Given the description of an element on the screen output the (x, y) to click on. 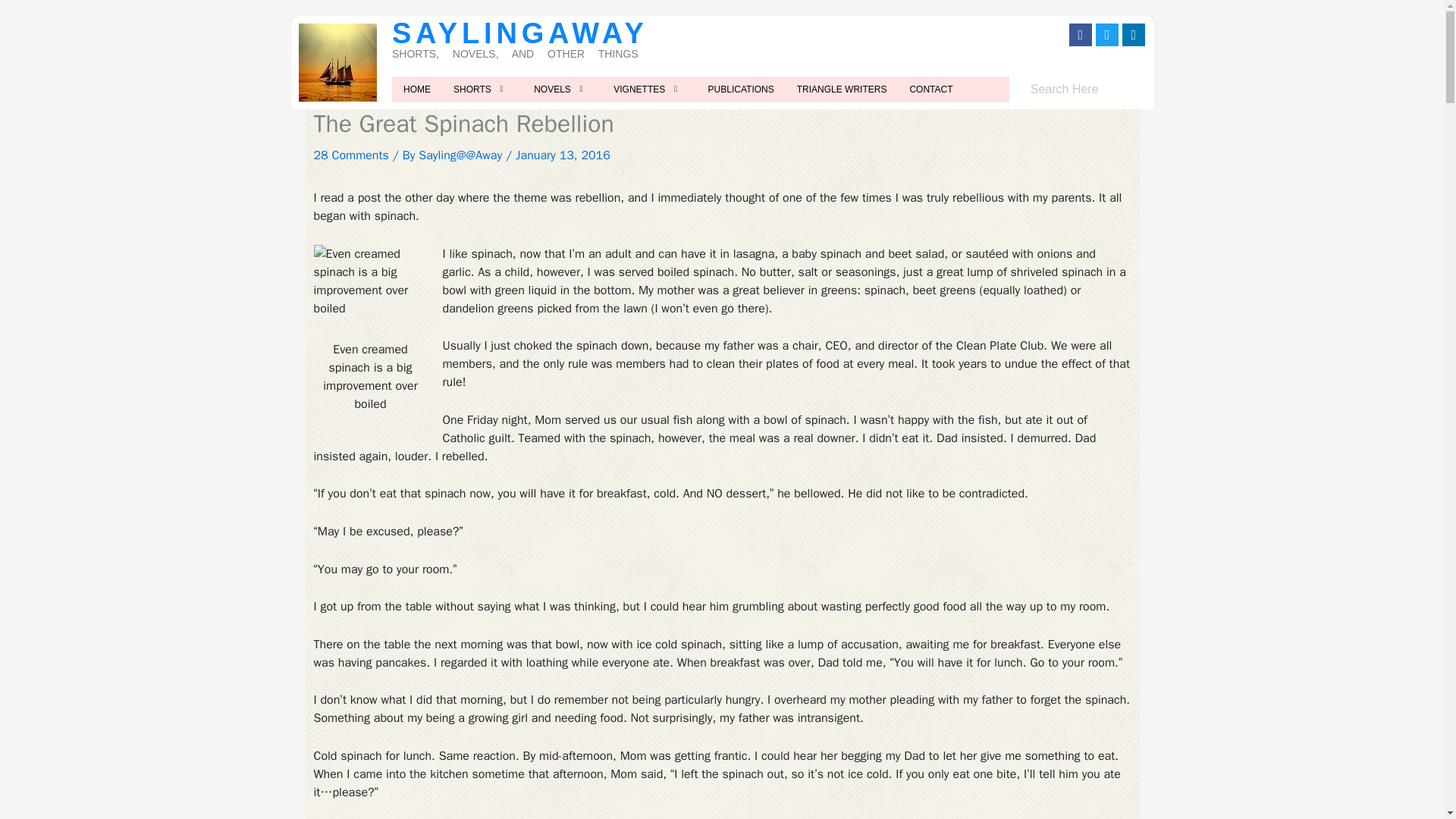
CONTACT (930, 88)
NOVELS (562, 88)
VIGNETTES (648, 88)
TRIANGLE WRITERS (842, 88)
SHORTS (482, 88)
HOME (416, 88)
Search (1083, 88)
28 Comments (351, 155)
PUBLICATIONS (741, 88)
SAYLINGAWAY (519, 33)
